Given the description of an element on the screen output the (x, y) to click on. 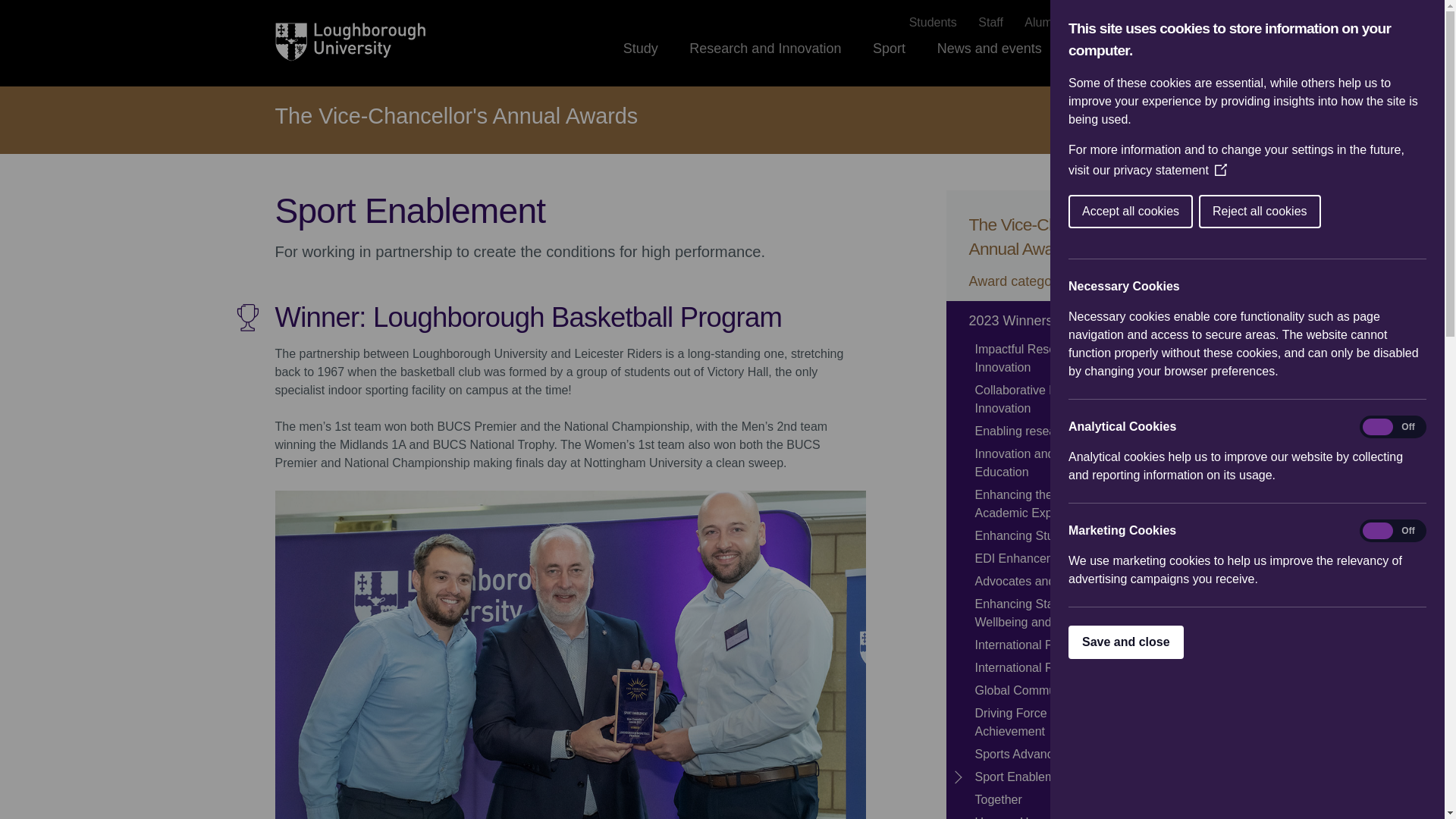
News and events (989, 61)
Collaborative Research and Innovation (1058, 399)
Enhancing the Student Academic Experience (1058, 504)
Students (932, 22)
Award categories (1058, 281)
Advocates and Allies (1058, 581)
Toggle global search (1160, 48)
Save and close (1358, 642)
EDI Enhancement (1058, 558)
The Vice-Chancellor's Annual Awards (456, 116)
Enhancing Student Experience (1058, 536)
Impactful Research and Innovation (1058, 358)
Staff (990, 22)
Alumni (1043, 22)
2023 Winners and nominees (1058, 320)
